Given the description of an element on the screen output the (x, y) to click on. 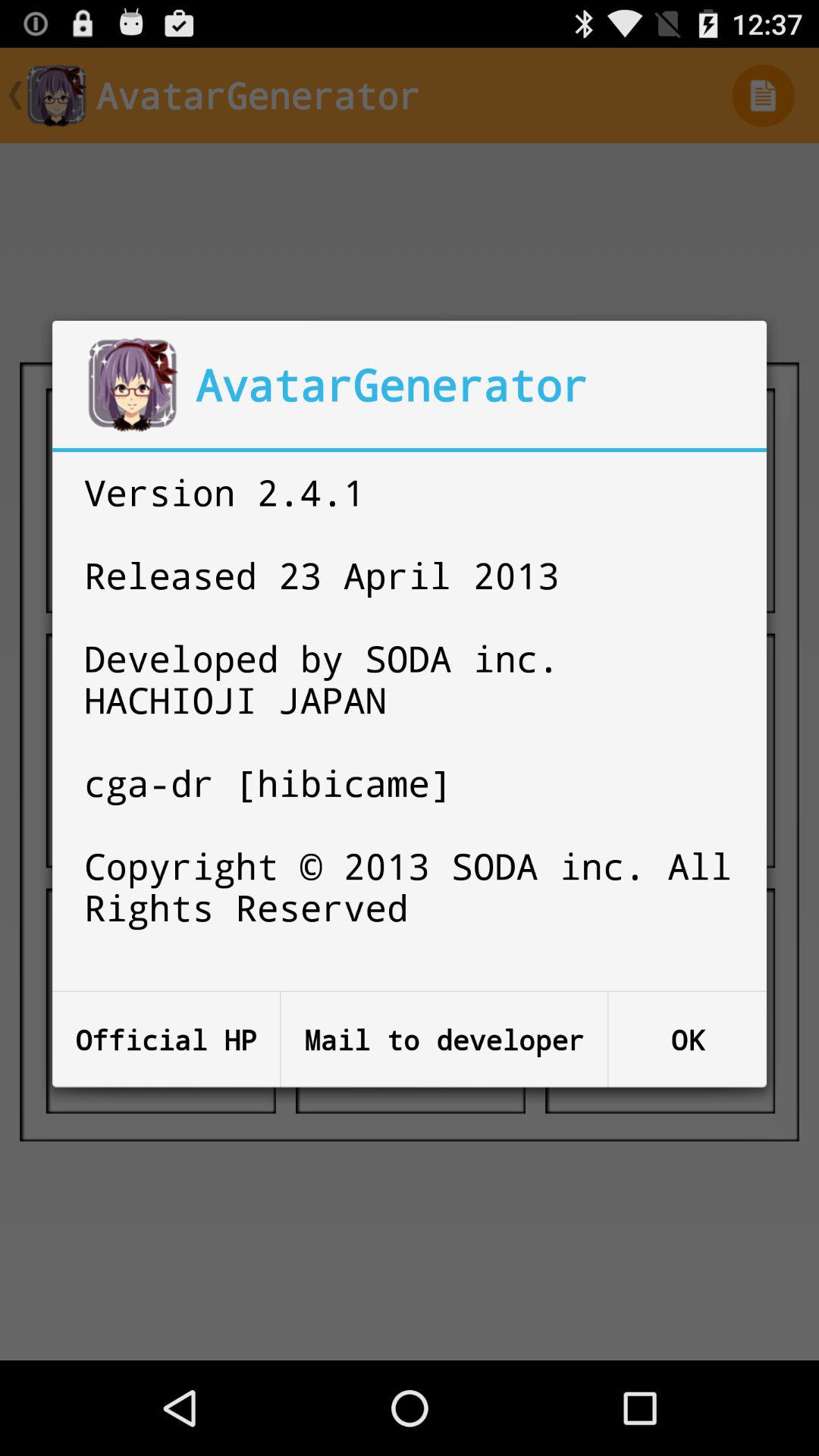
scroll until the official hp item (165, 1039)
